Given the description of an element on the screen output the (x, y) to click on. 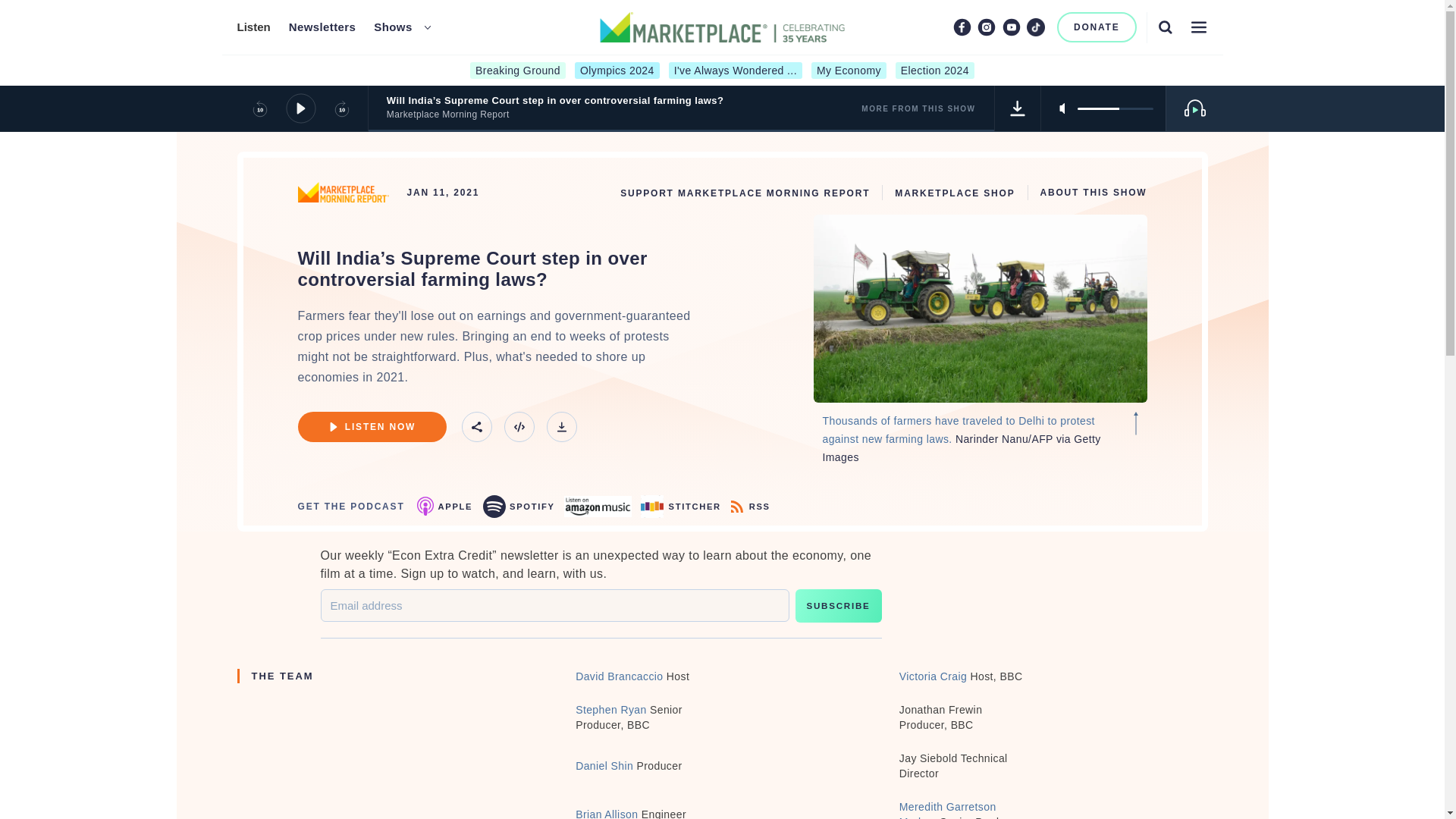
Youtube (1011, 27)
Download Track (561, 426)
DONATE (1097, 27)
TikTok (1035, 27)
volume (1115, 108)
Download Track (1017, 108)
5 (1115, 108)
Instagram (985, 27)
Facebook (962, 27)
